Given the description of an element on the screen output the (x, y) to click on. 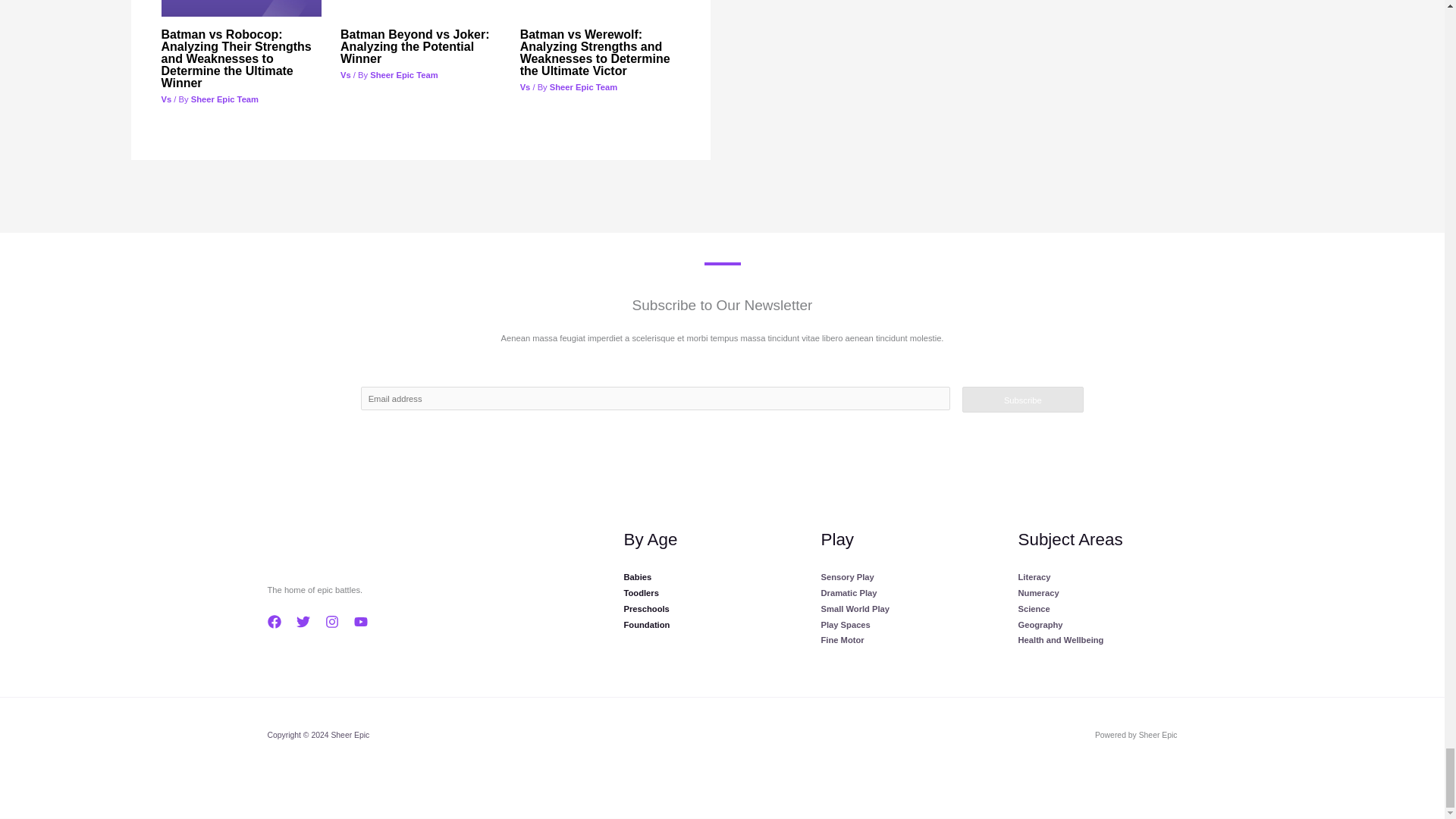
Sheer Epic Team (583, 86)
View all posts by Sheer Epic Team (403, 74)
Vs (165, 99)
Batman Beyond vs Joker: Analyzing the Potential Winner (414, 46)
Vs (345, 74)
Sheer Epic Team (224, 99)
Sheer Epic Team (403, 74)
View all posts by Sheer Epic Team (583, 86)
Vs (525, 86)
View all posts by Sheer Epic Team (224, 99)
